Given the description of an element on the screen output the (x, y) to click on. 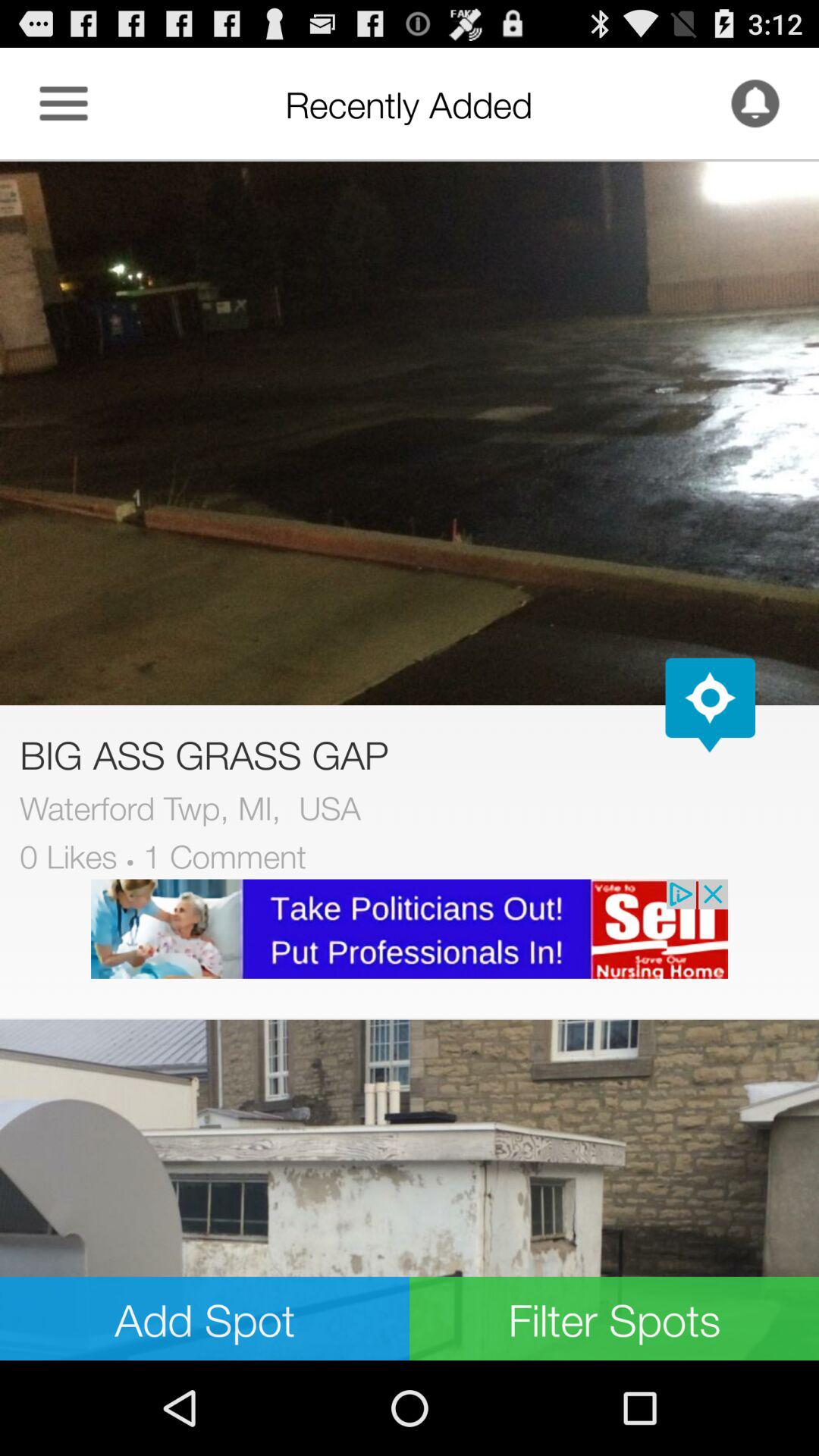
subscribe switch (755, 103)
